Given the description of an element on the screen output the (x, y) to click on. 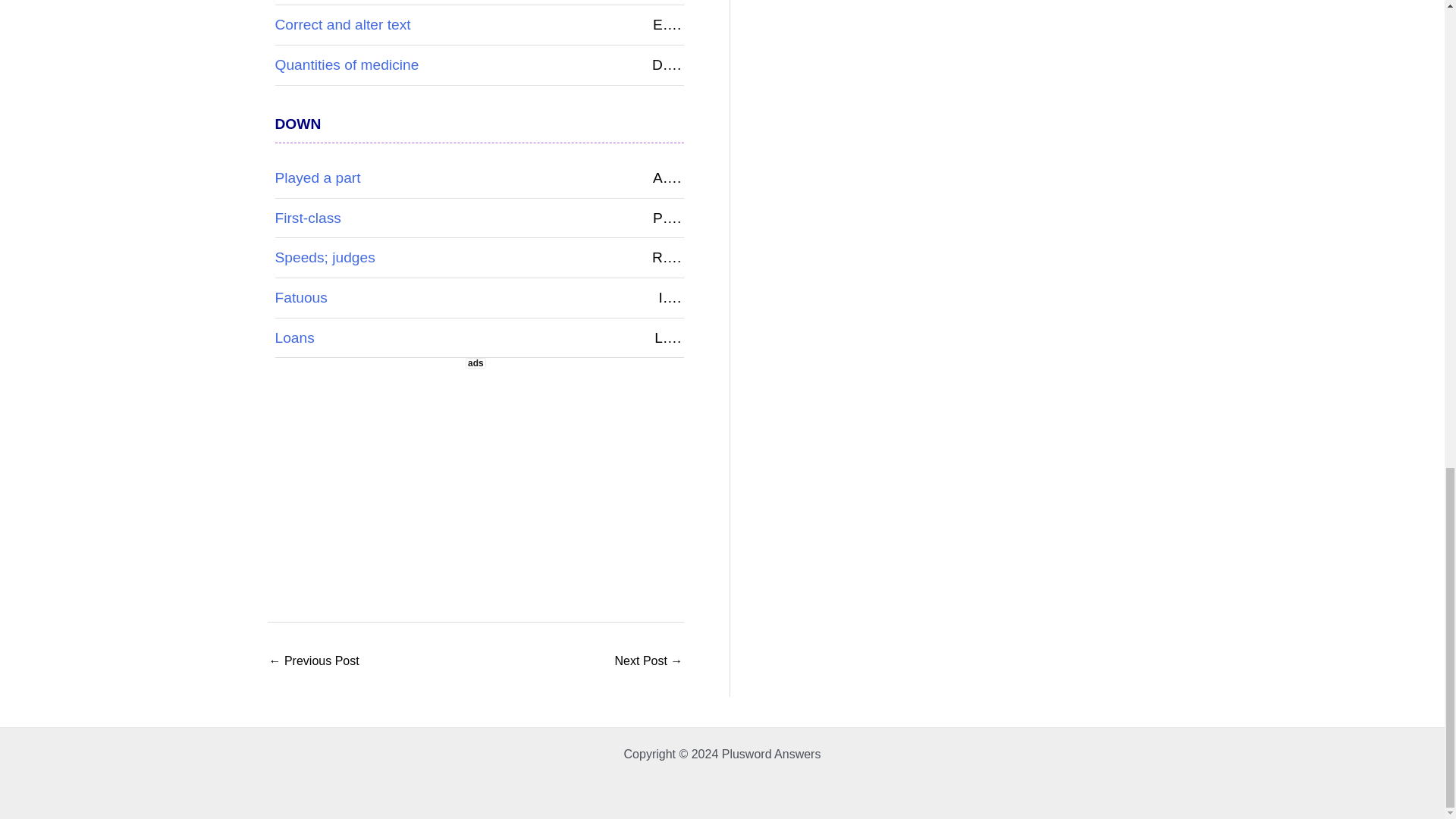
Fatuous (300, 297)
Played a part (317, 177)
Fatuous Crossword (312, 662)
Speeds; judges (324, 257)
Quantities of medicine (347, 64)
Taking advantage of Crossword (648, 662)
Correct and alter text (342, 24)
First-class (307, 217)
Loans (294, 337)
